Given the description of an element on the screen output the (x, y) to click on. 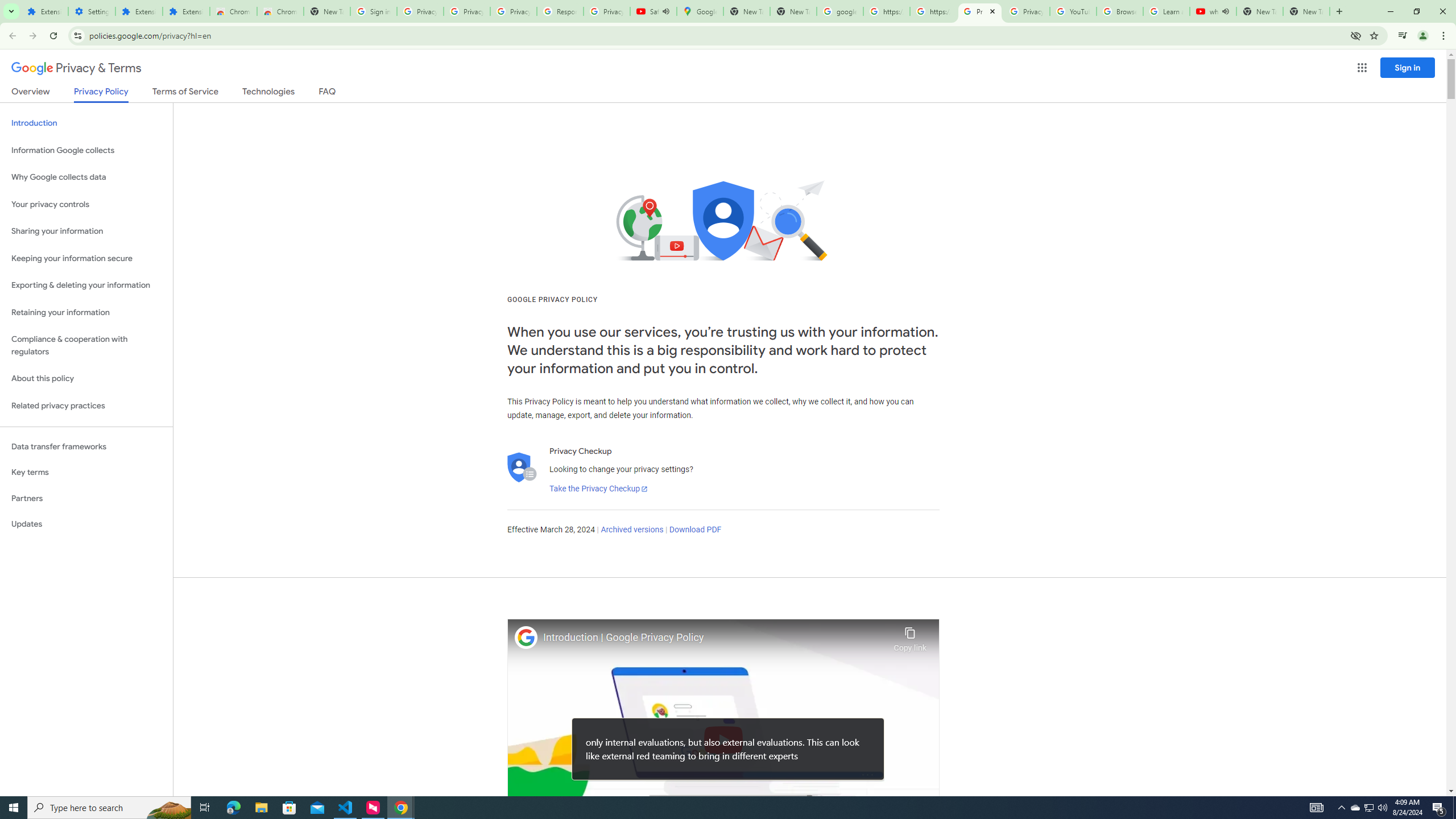
Settings (91, 11)
Sign in - Google Accounts (373, 11)
Partners (86, 497)
New Tab (326, 11)
